Given the description of an element on the screen output the (x, y) to click on. 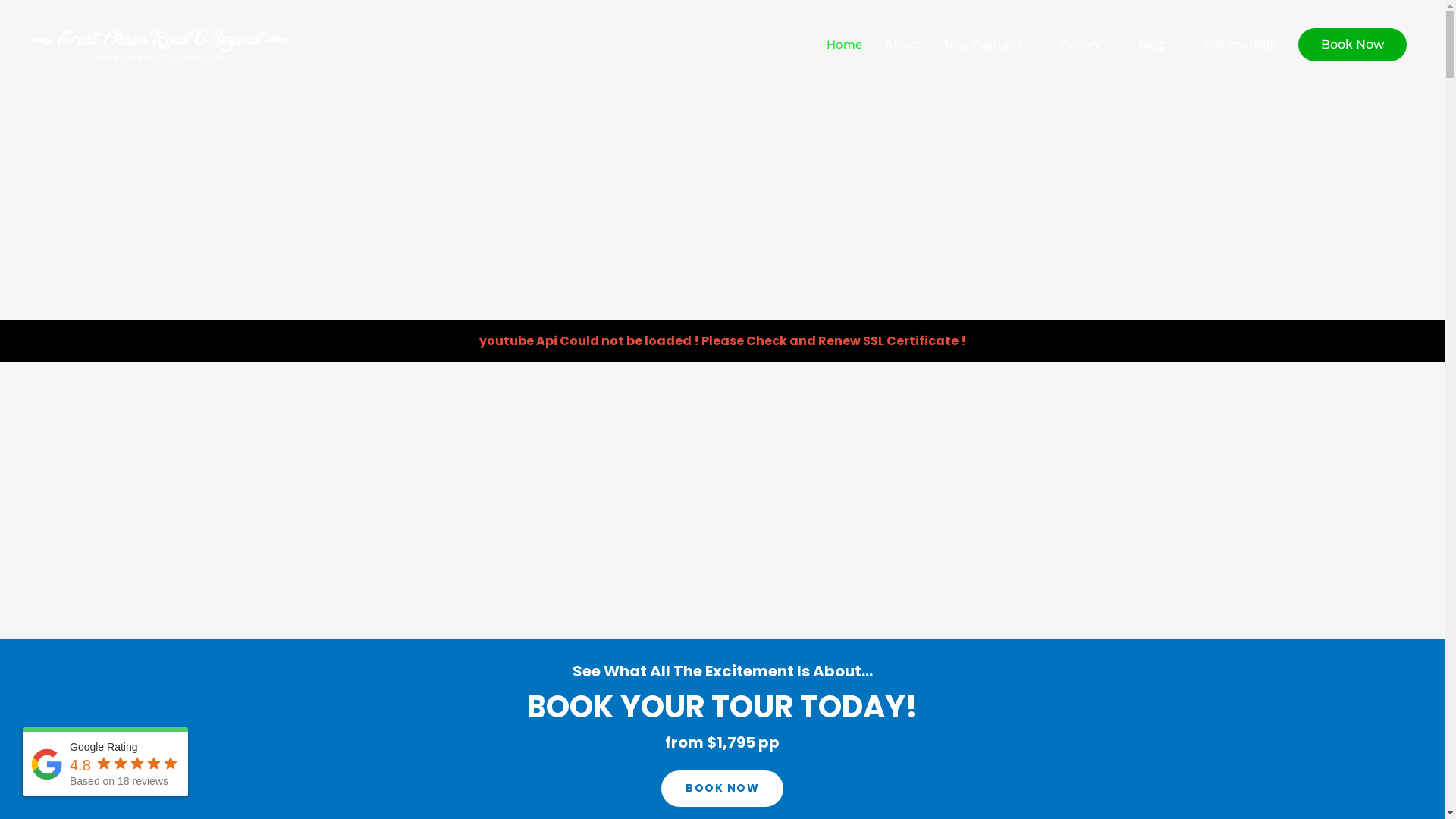
Book Now Element type: text (1352, 44)
Gallery Element type: text (1087, 44)
Blog Element type: text (1158, 44)
Testimonials Element type: text (1238, 44)
Tour Features Element type: text (990, 44)
BOOK NOW Element type: text (722, 788)
About Element type: text (902, 44)
Book Now Element type: text (1352, 43)
Home Element type: text (844, 44)
